Given the description of an element on the screen output the (x, y) to click on. 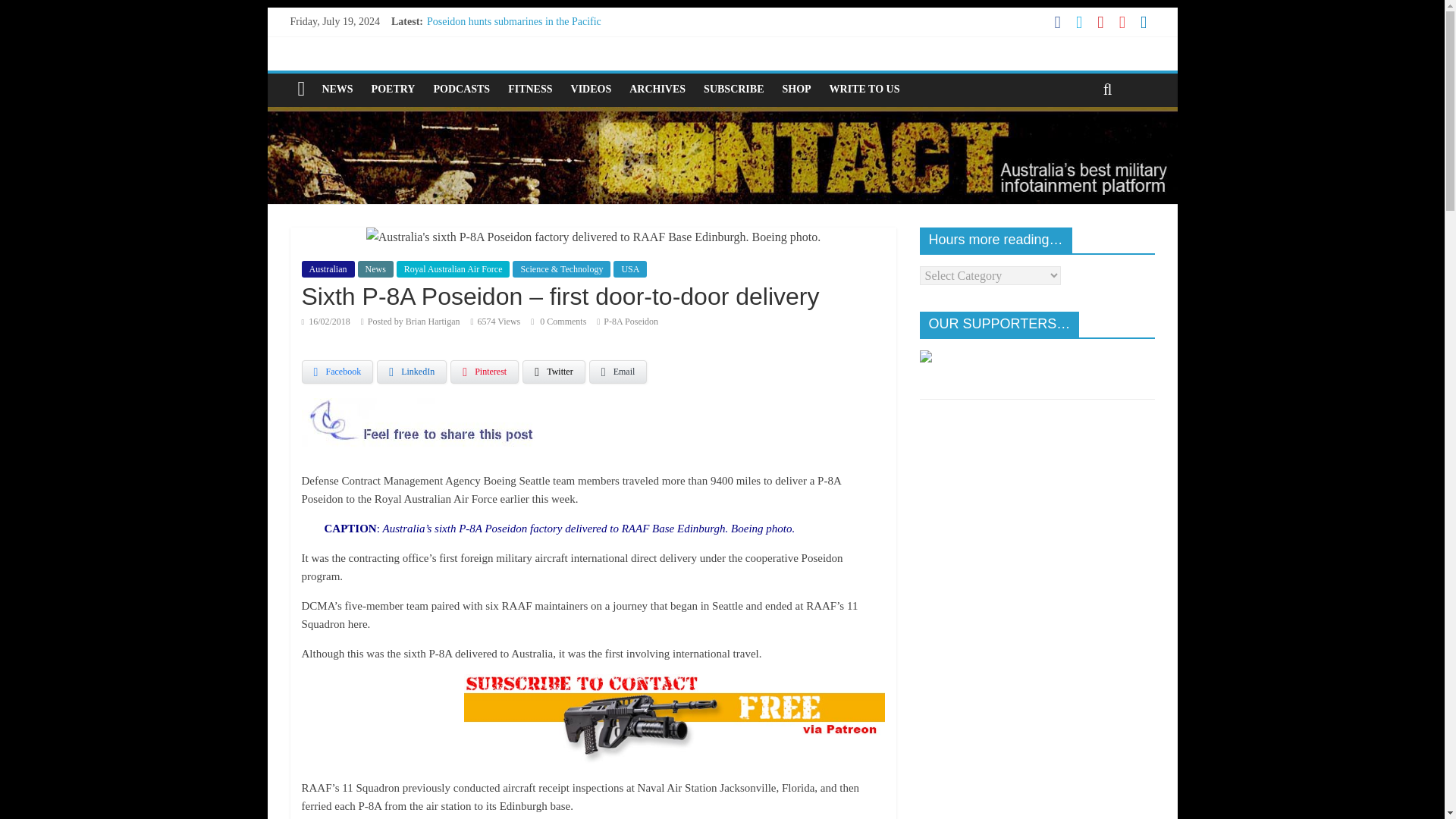
Pinterest (483, 372)
Share an image of this article on Pinterest (483, 372)
P-8A Poseidon (631, 321)
Share this article on Twitter (553, 372)
NEWS (337, 89)
Email (618, 372)
ARCHIVES (657, 89)
FITNESS (529, 89)
POETRY (393, 89)
VIDEOS (591, 89)
Poseidon hunts submarines in the Pacific (513, 21)
Royal Australian Air Force (453, 269)
Australian (328, 269)
Poseidon hunts submarines in the Pacific (513, 21)
PODCASTS (461, 89)
